Given the description of an element on the screen output the (x, y) to click on. 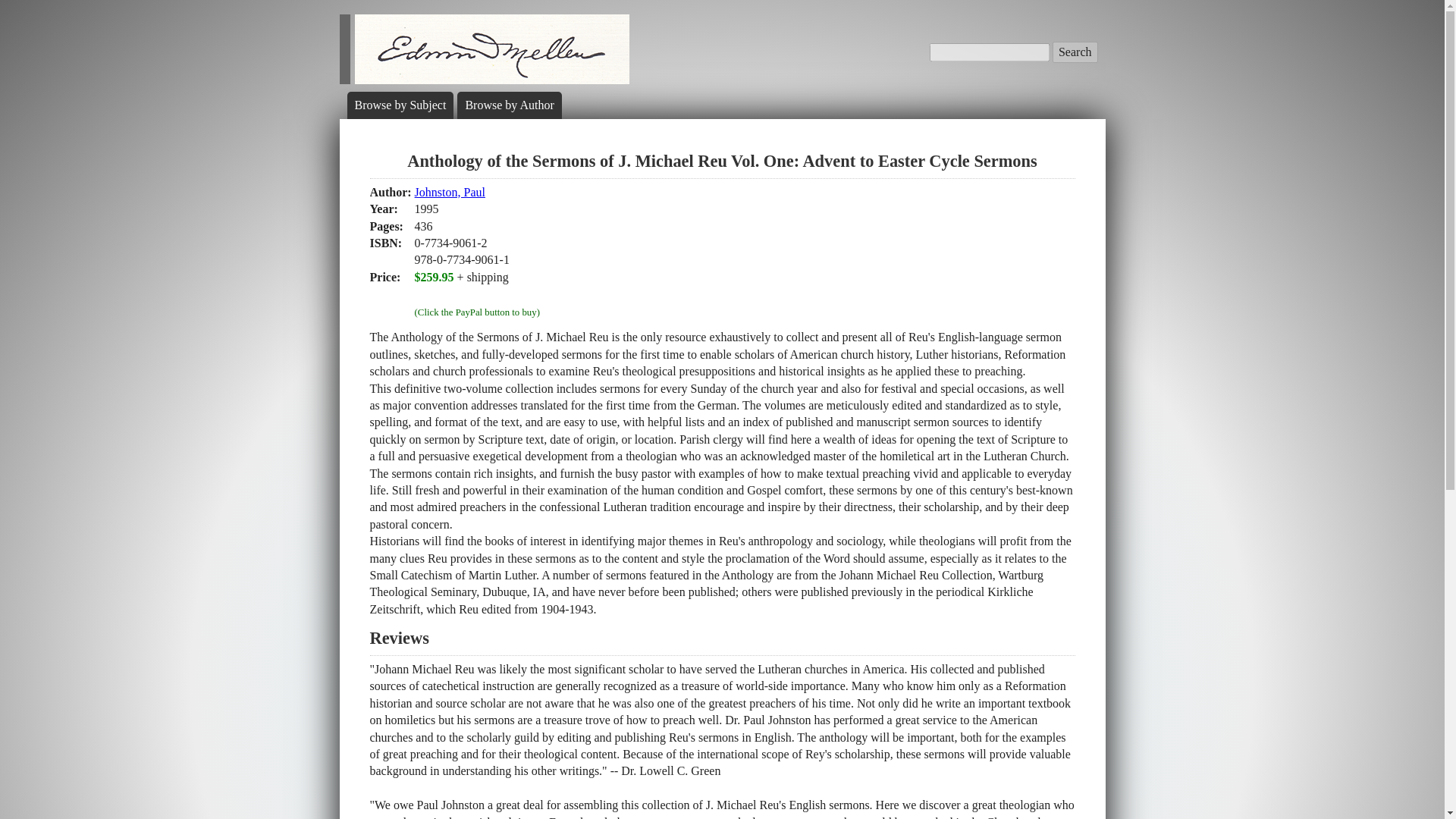
Browse by Author (508, 105)
Search (1074, 52)
Johnston, Paul (449, 192)
Browse by Subject (400, 105)
PayPal (477, 294)
